Given the description of an element on the screen output the (x, y) to click on. 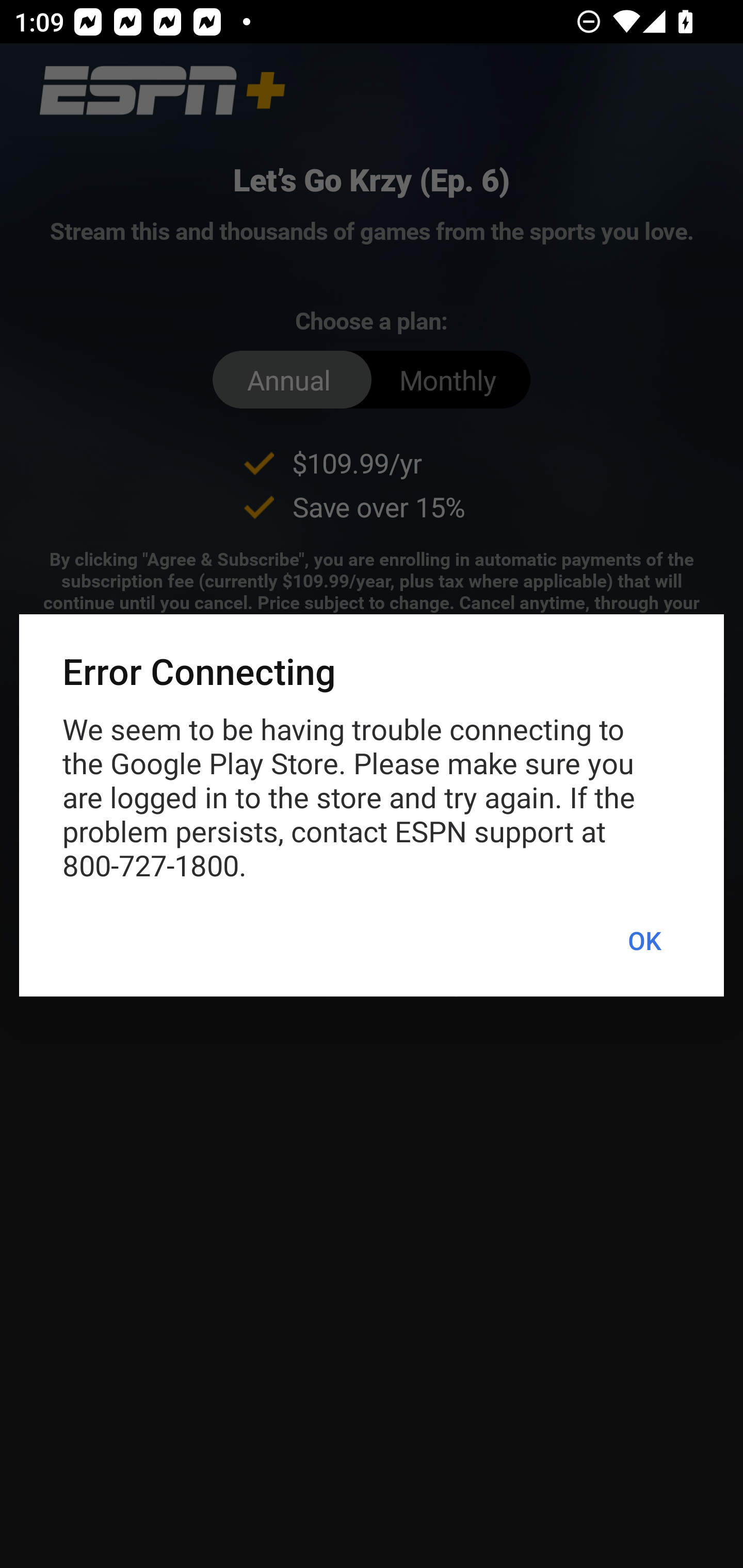
OK (644, 940)
